Given the description of an element on the screen output the (x, y) to click on. 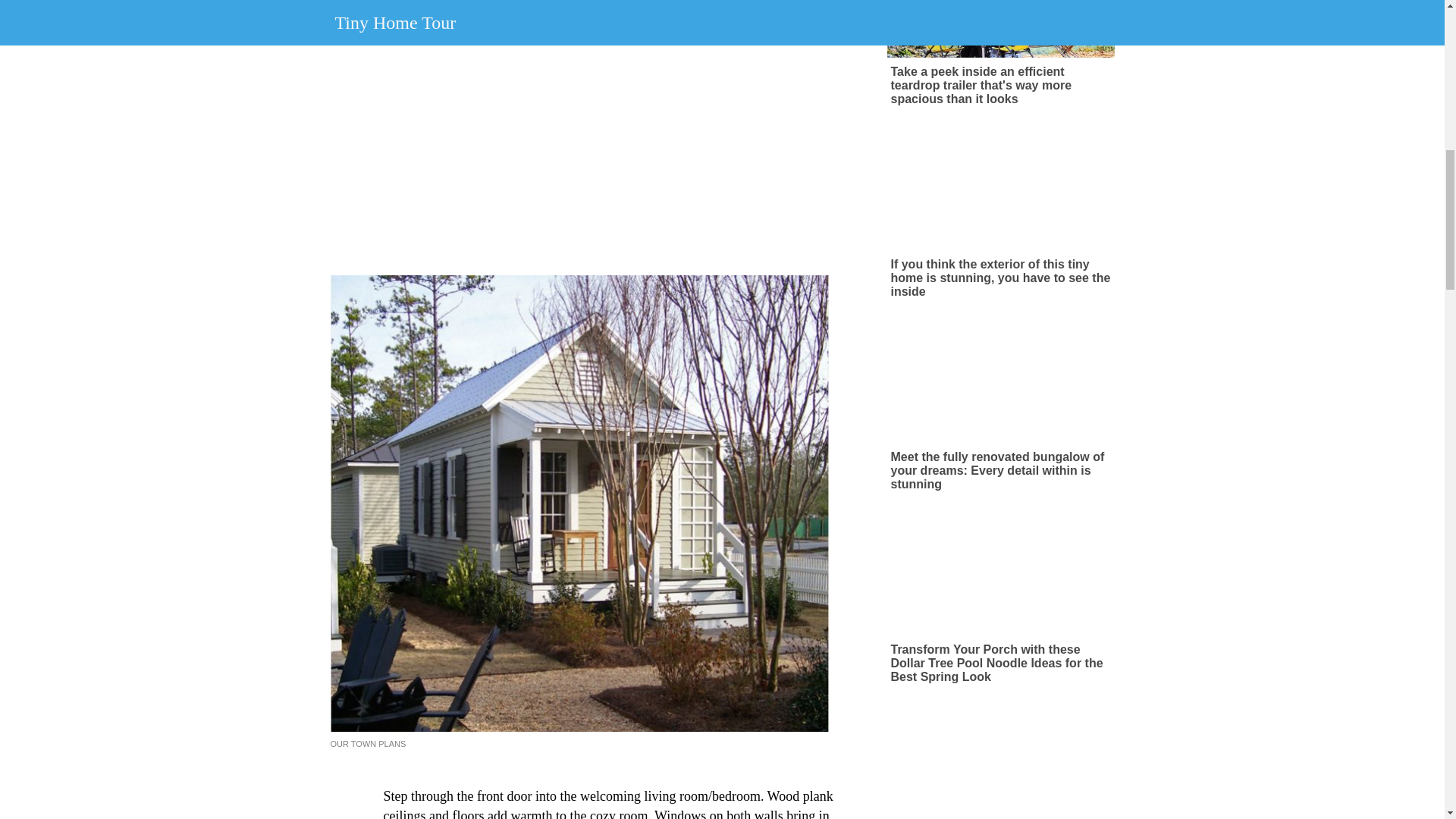
OUR TOWN PLANS (368, 743)
Privacy Policy (784, 62)
Do Not Sell My Info (871, 62)
Terms of Use (711, 62)
About Ads (646, 62)
